Given the description of an element on the screen output the (x, y) to click on. 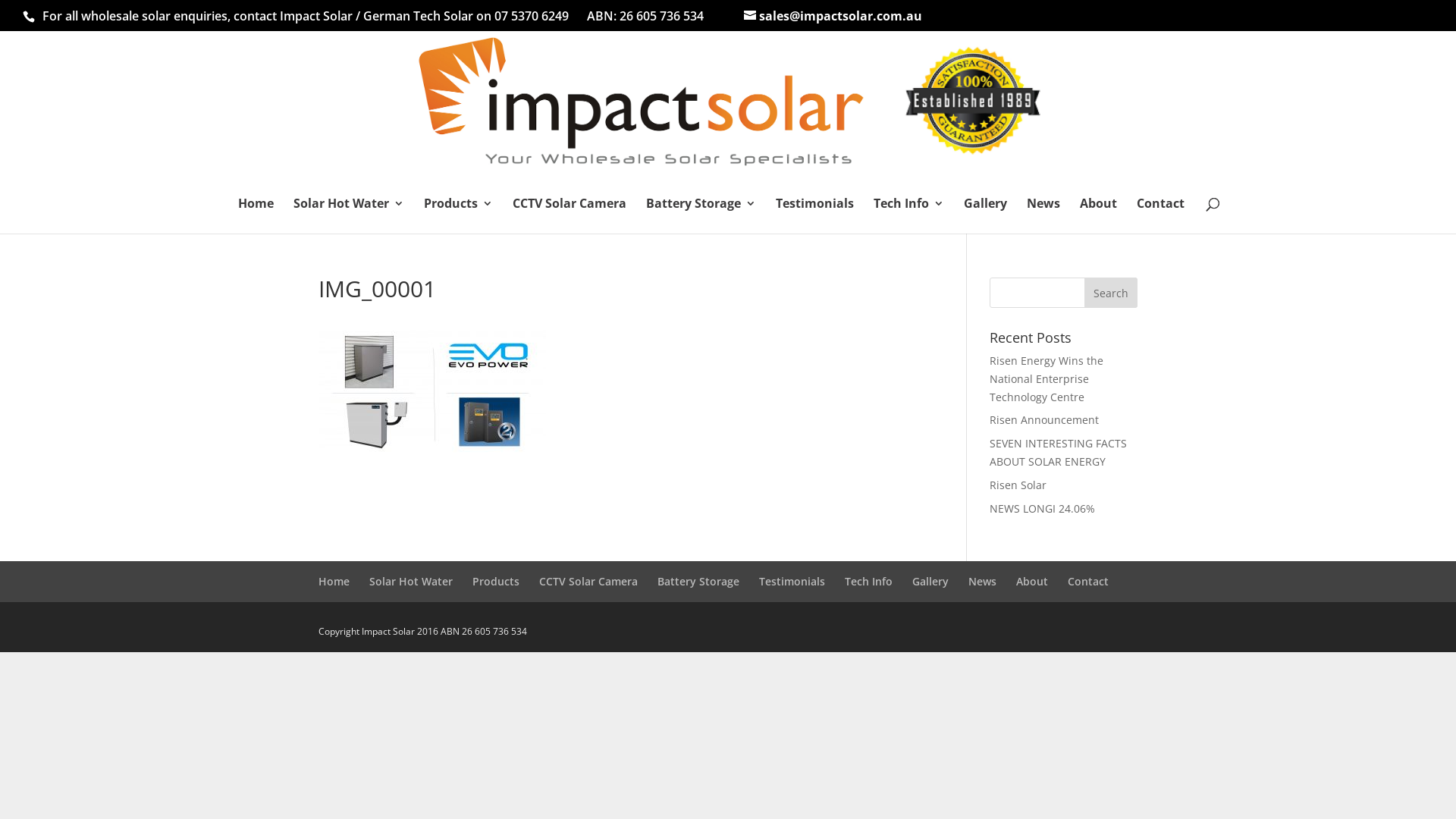
Home Element type: text (255, 215)
Solar Hot Water Element type: text (348, 215)
Solar Hot Water Element type: text (410, 581)
SEVEN INTERESTING FACTS ABOUT SOLAR ENERGY Element type: text (1057, 452)
Testimonials Element type: text (814, 215)
Home Element type: text (333, 581)
Risen Energy Wins the National Enterprise Technology Centre Element type: text (1046, 378)
Battery Storage Element type: text (701, 215)
Risen Solar Element type: text (1017, 484)
Tech Info Element type: text (908, 215)
News Element type: text (1043, 215)
Products Element type: text (457, 215)
CCTV Solar Camera Element type: text (588, 581)
About Element type: text (1098, 215)
CCTV Solar Camera Element type: text (569, 215)
About Element type: text (1032, 581)
Tech Info Element type: text (868, 581)
Risen Announcement Element type: text (1043, 419)
sales@impactsolar.com.au Element type: text (832, 15)
Contact Element type: text (1087, 581)
Testimonials Element type: text (792, 581)
Products Element type: text (495, 581)
Gallery Element type: text (985, 215)
Contact Element type: text (1160, 215)
News Element type: text (982, 581)
Search Element type: text (1110, 292)
Battery Storage Element type: text (698, 581)
NEWS LONGI 24.06% Element type: text (1042, 508)
Gallery Element type: text (930, 581)
